Given the description of an element on the screen output the (x, y) to click on. 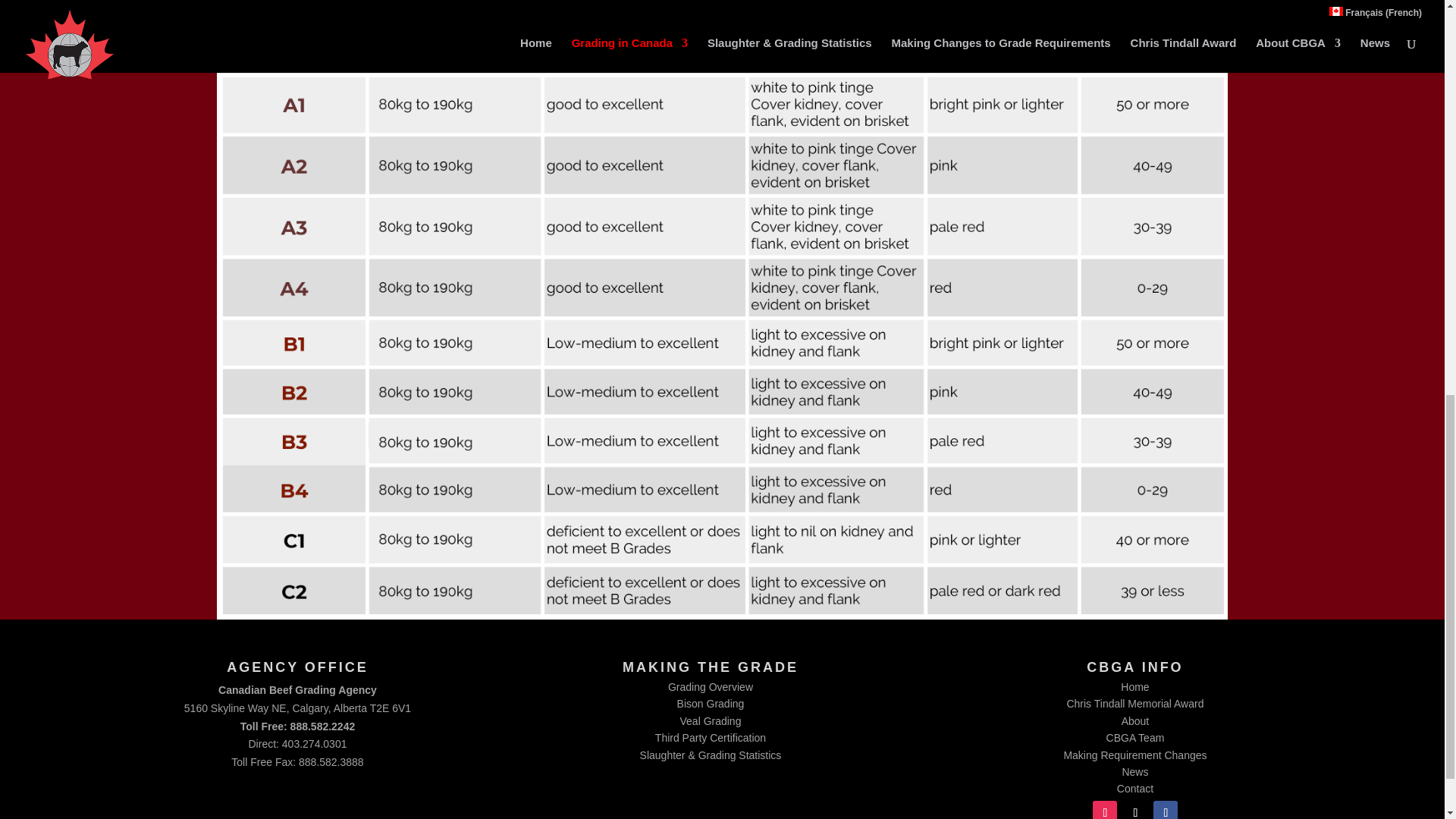
Third Party Certification (710, 737)
Chris Tindall Memorial Award (1134, 703)
Follow on Instagram (1104, 809)
About (1135, 720)
CBGA Team (1135, 737)
Follow on Facebook (1165, 809)
Grading Overview (710, 686)
Veal Grading (710, 720)
Making Requirement Changes (1134, 755)
Bison Grading (710, 703)
Home (1134, 686)
Follow on X (1134, 809)
News (1134, 771)
